Given the description of an element on the screen output the (x, y) to click on. 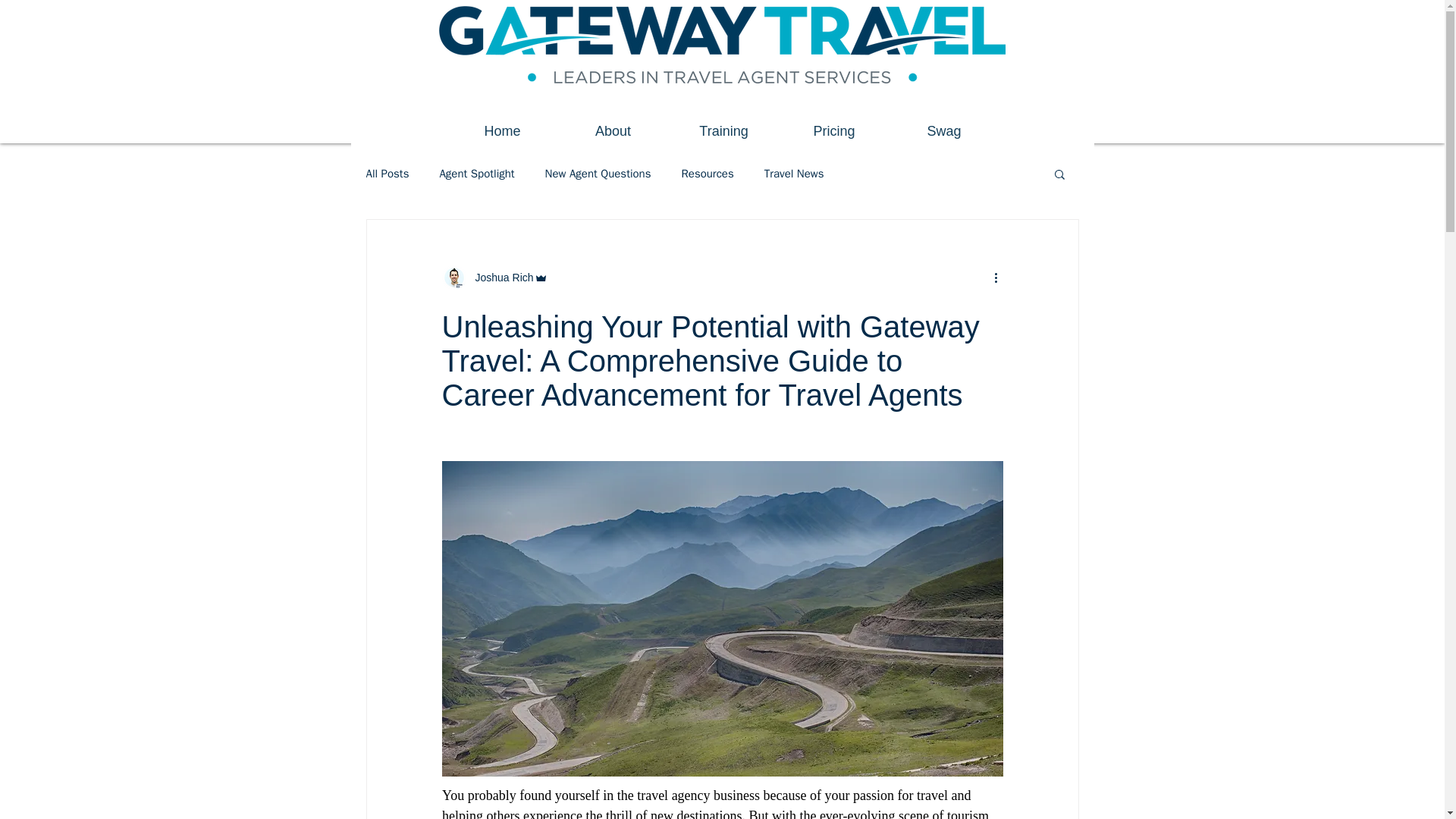
About (612, 131)
Resources (707, 173)
Joshua Rich (498, 277)
Home (501, 131)
Training (723, 131)
Travel News (794, 173)
Swag (943, 131)
New Agent Questions (597, 173)
Joshua Rich (494, 277)
Pricing (833, 131)
